Given the description of an element on the screen output the (x, y) to click on. 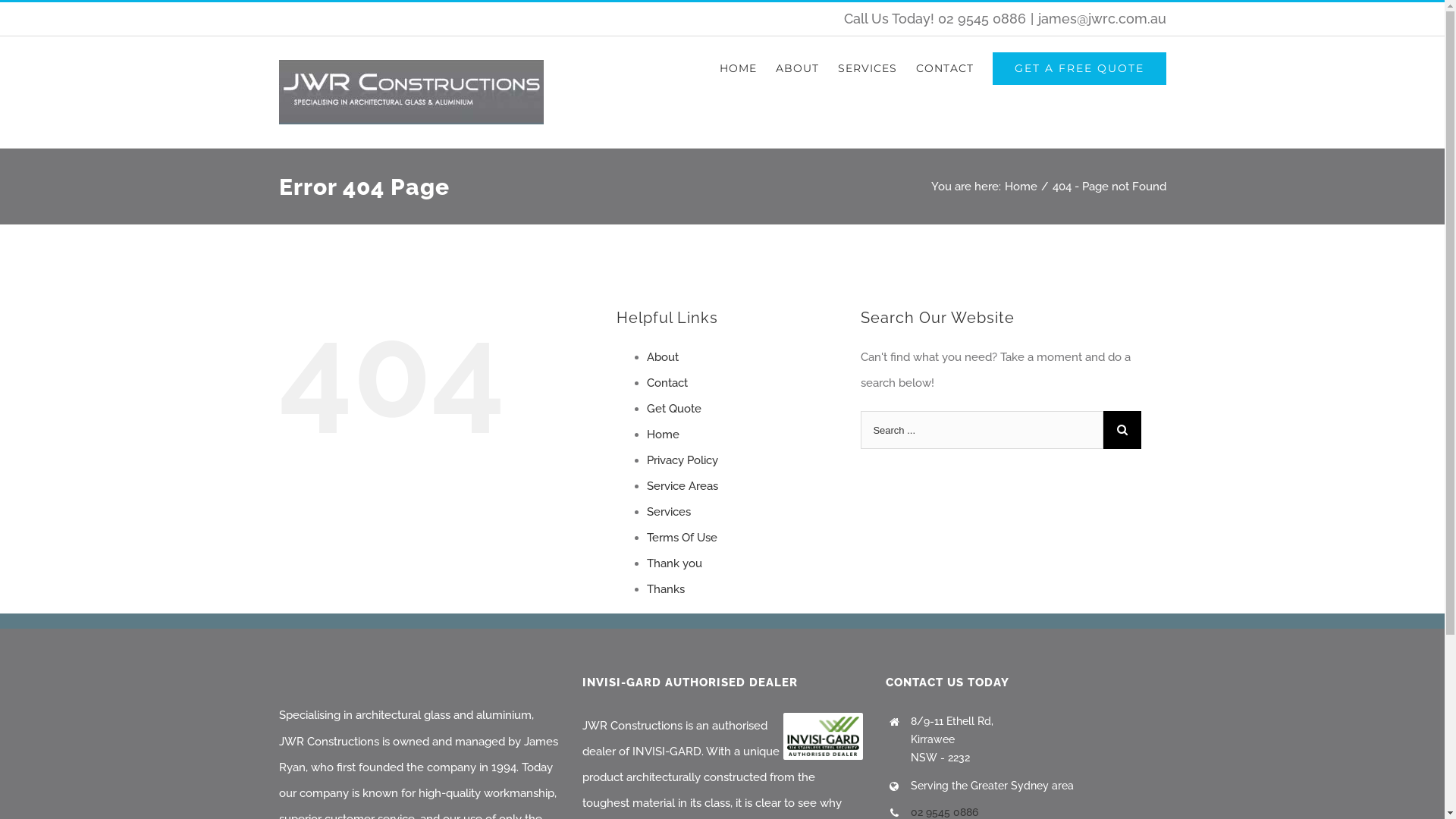
SERVICES Element type: text (866, 68)
Service Areas Element type: text (681, 485)
Privacy Policy Element type: text (681, 460)
Call Us Today! 02 9545 0886 Element type: text (934, 18)
GET A FREE QUOTE Element type: text (1078, 68)
Services Element type: text (668, 511)
CONTACT Element type: text (944, 68)
Terms Of Use Element type: text (681, 537)
Home Element type: text (1020, 186)
Contact Element type: text (666, 382)
Thanks Element type: text (665, 589)
About Element type: text (661, 357)
james@jwrc.com.au Element type: text (1101, 18)
02 9545 0886 Element type: text (944, 812)
Home Element type: text (662, 434)
Thank you Element type: text (673, 563)
HOME Element type: text (737, 68)
Get Quote Element type: text (673, 408)
ABOUT Element type: text (796, 68)
